Given the description of an element on the screen output the (x, y) to click on. 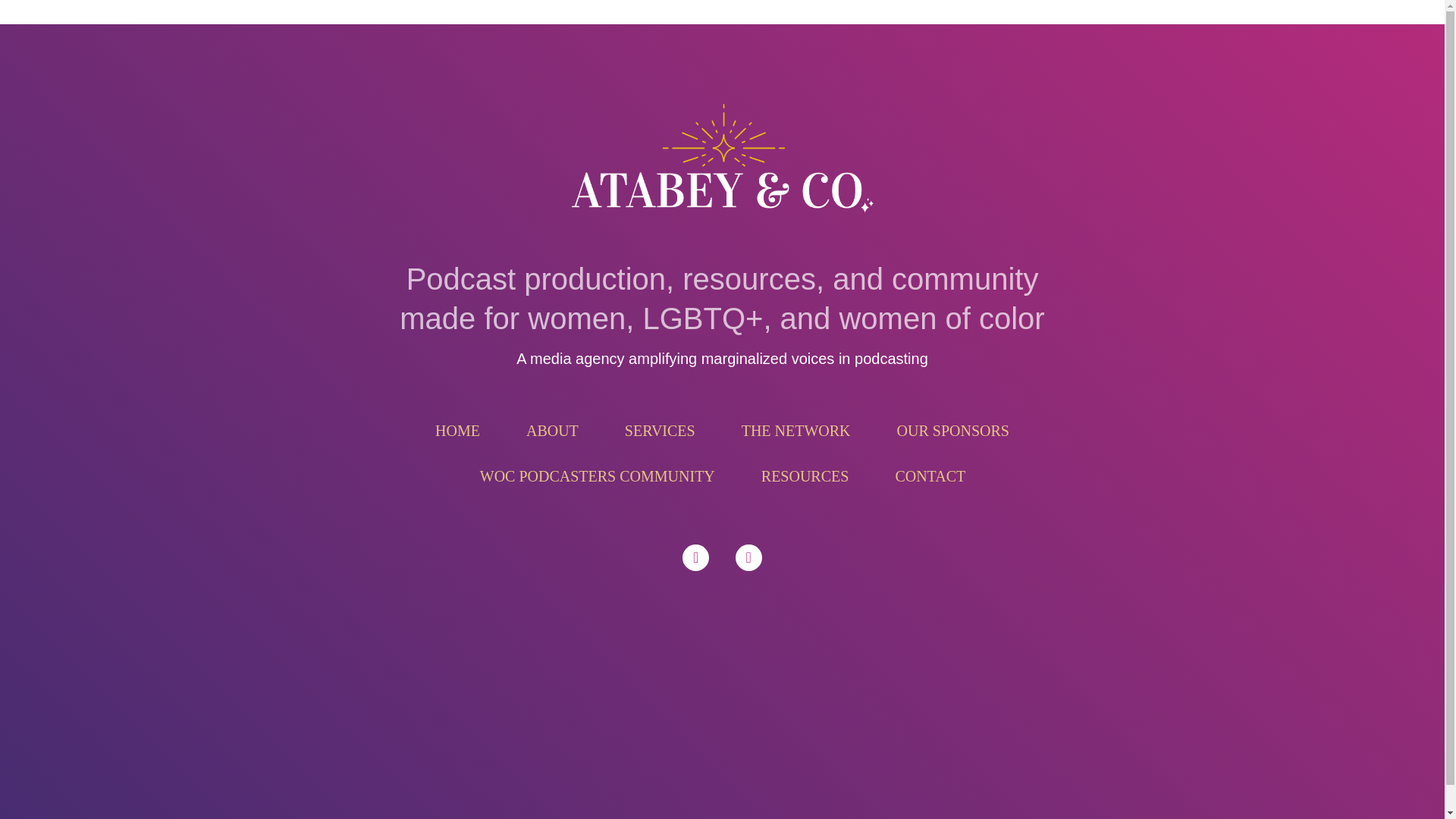
WOC PODCASTERS COMMUNITY (597, 475)
OUR SPONSORS (953, 430)
CONTACT (930, 475)
RESOURCES (805, 475)
HOME (457, 430)
THE NETWORK (796, 430)
Primary Logo - White copy (721, 162)
ABOUT (552, 430)
SERVICES (659, 430)
